Given the description of an element on the screen output the (x, y) to click on. 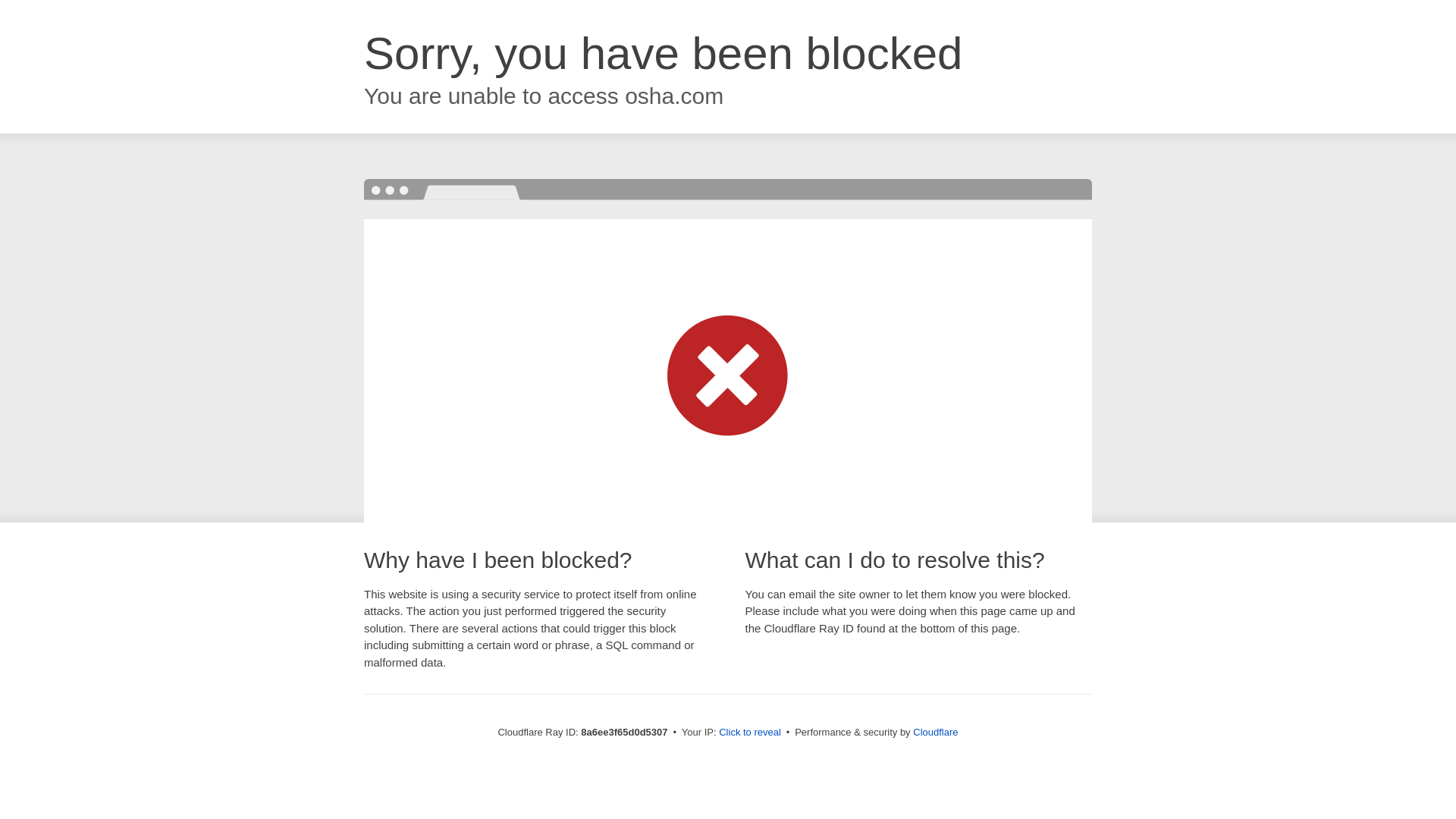
Cloudflare (935, 731)
Click to reveal (749, 732)
